Given the description of an element on the screen output the (x, y) to click on. 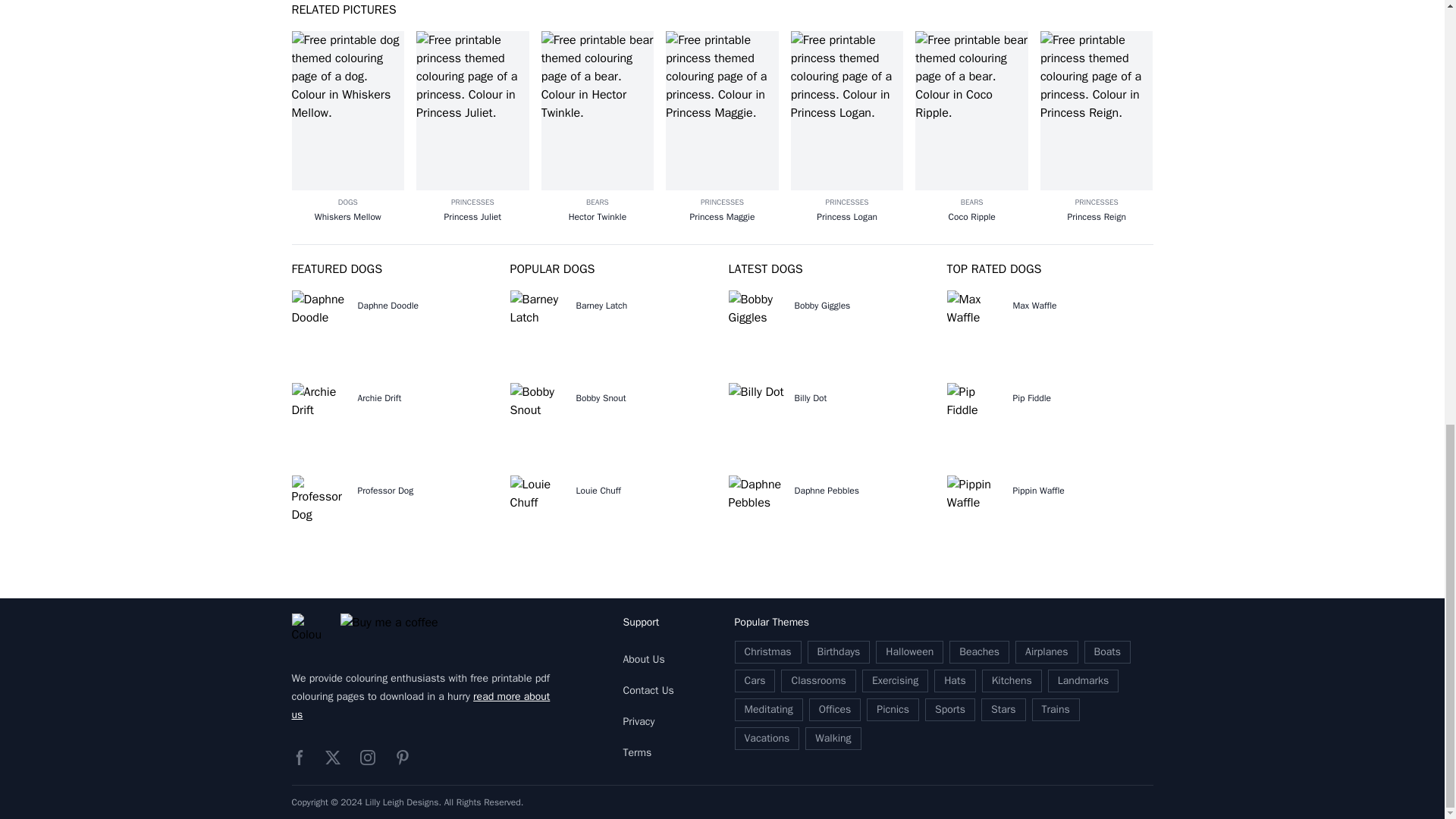
Home (306, 629)
Buy me a coffee (395, 629)
